Given the description of an element on the screen output the (x, y) to click on. 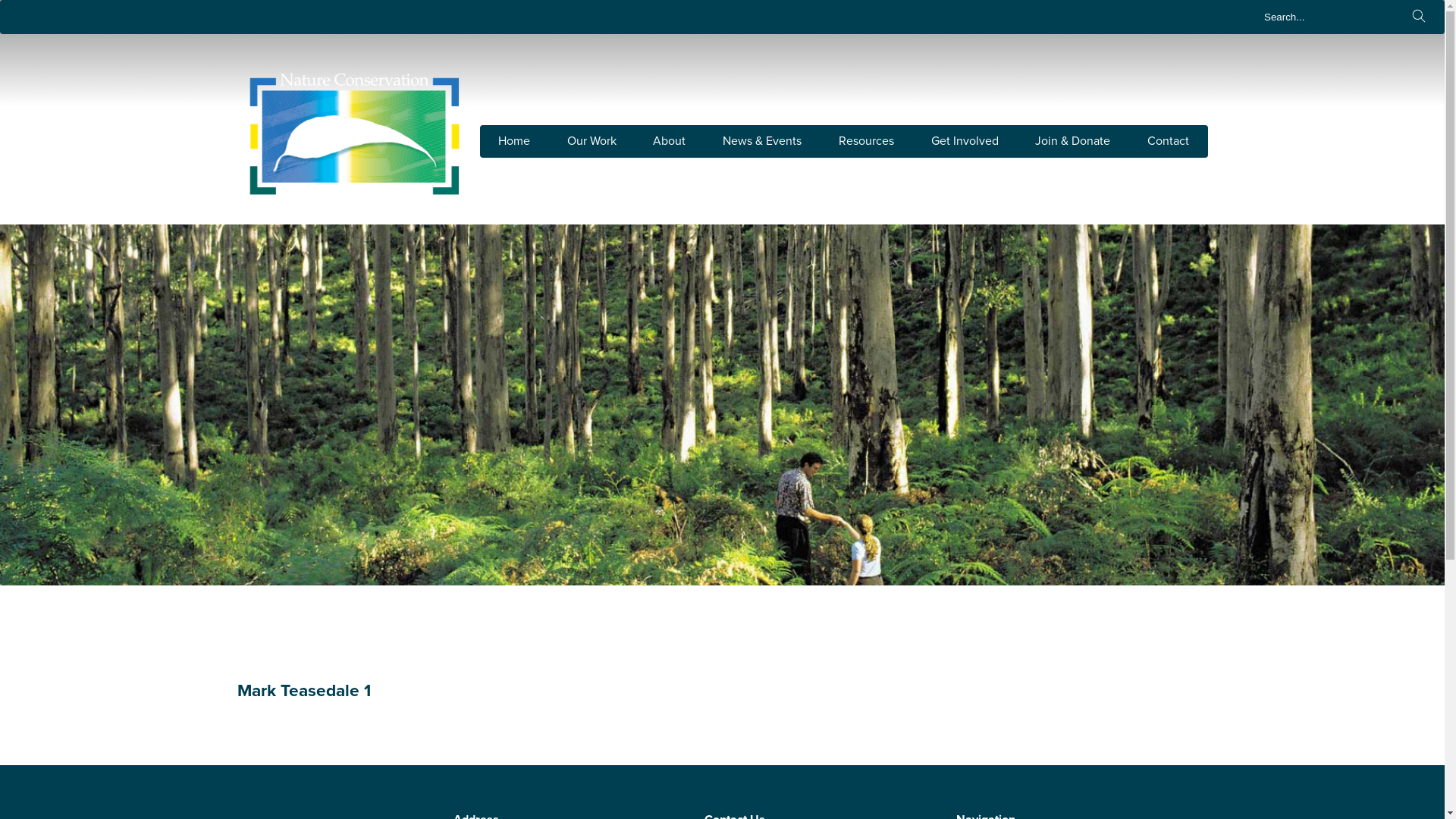
Contact Element type: text (1168, 141)
Join & Donate Element type: text (1072, 141)
Get Involved Element type: text (964, 141)
Resources Element type: text (866, 141)
Home Element type: text (514, 141)
News & Events Element type: text (761, 141)
Our Work Element type: text (591, 141)
About Element type: text (668, 141)
